Given the description of an element on the screen output the (x, y) to click on. 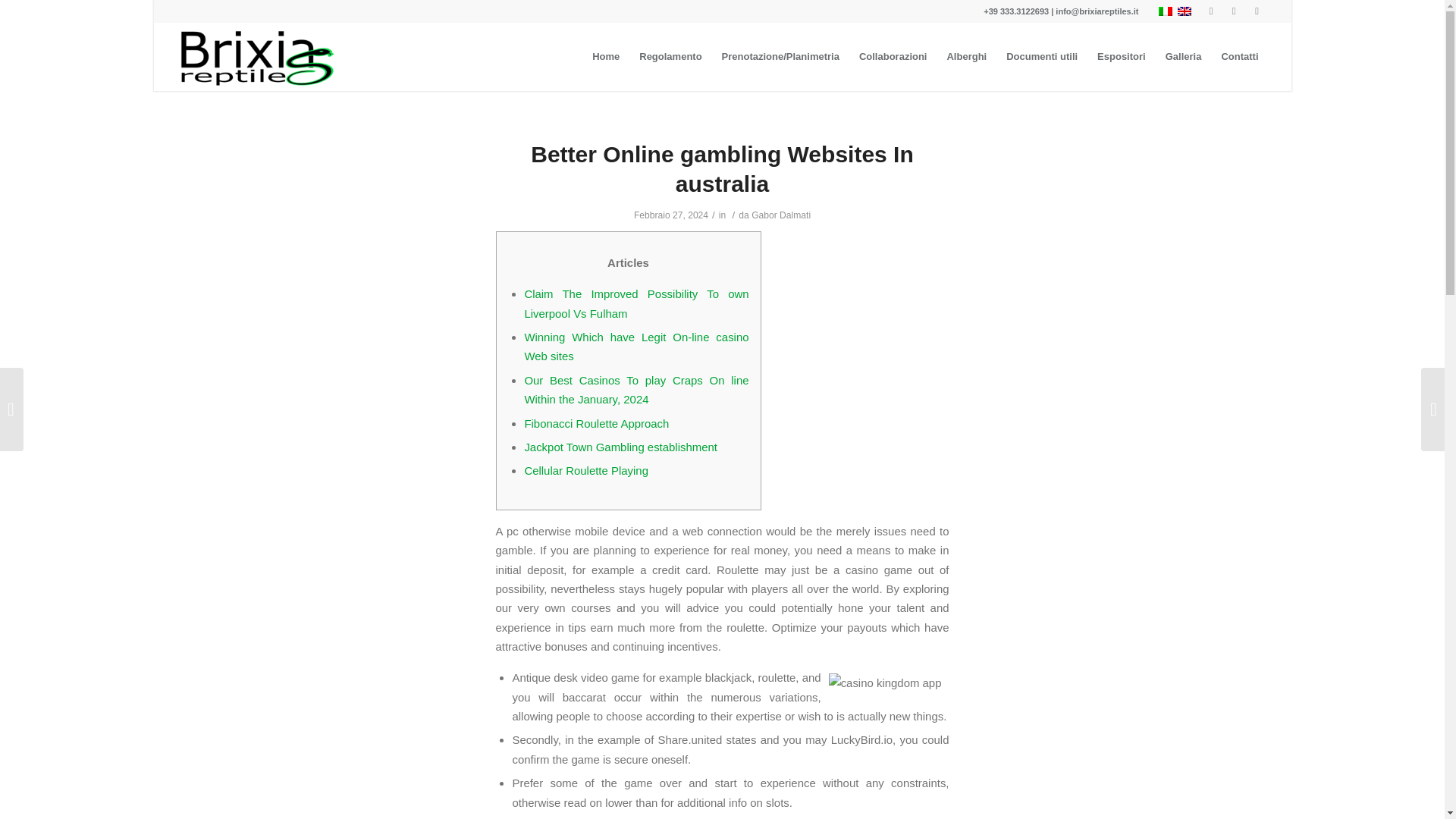
Jackpot Town Gambling establishment (620, 446)
Regolamento (669, 56)
Fibonacci Roulette Approach (596, 422)
Cellular Roulette Playing (585, 470)
Claim The Improved Possibility To own Liverpool Vs Fulham (636, 303)
Documenti utili (1041, 56)
Collaborazioni (892, 56)
Winning Which have Legit On-line casino Web sites (636, 346)
Gabor Dalmati (780, 214)
Articoli scritti da Gabor Dalmati (780, 214)
